Given the description of an element on the screen output the (x, y) to click on. 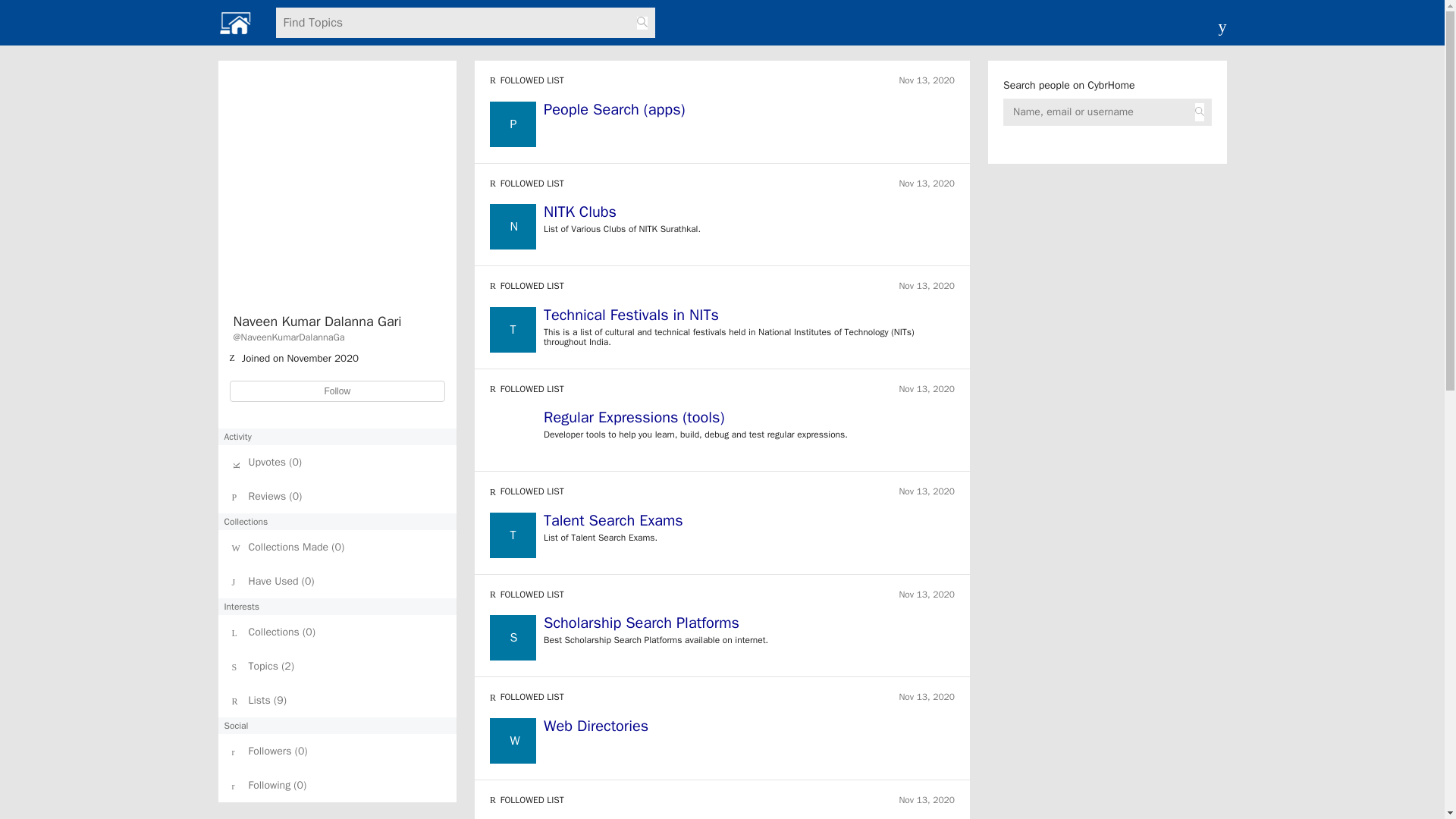
Scholarship Search Platforms (749, 625)
Follow (336, 391)
W (512, 740)
Technical Festivals in NITs (749, 317)
T (512, 534)
P (512, 124)
Scholarship Search Platforms (641, 622)
Web Directories (595, 725)
S (512, 637)
Talent Search Exams (749, 522)
